Given the description of an element on the screen output the (x, y) to click on. 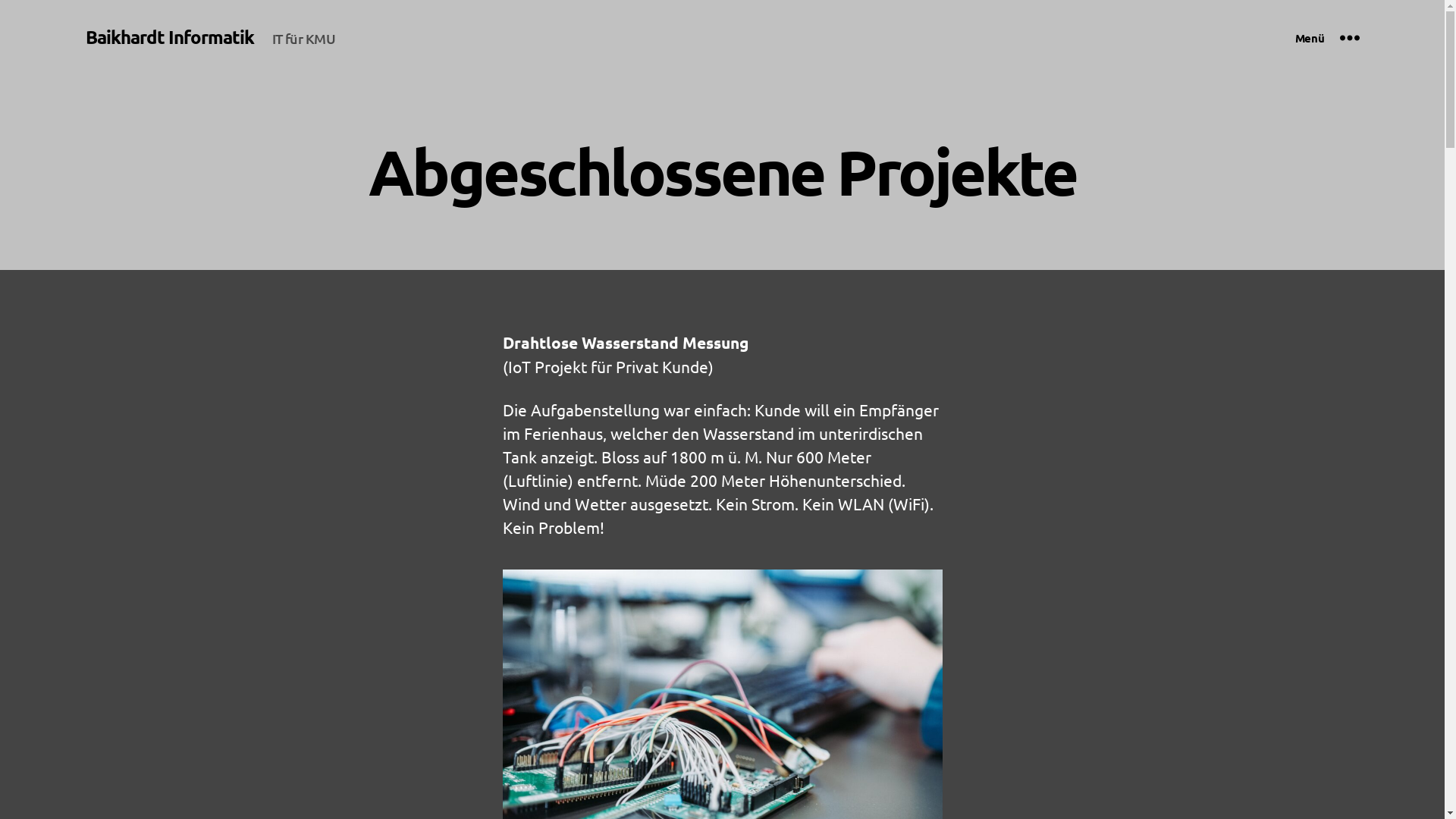
Baikhardt Informatik Element type: text (168, 37)
